Given the description of an element on the screen output the (x, y) to click on. 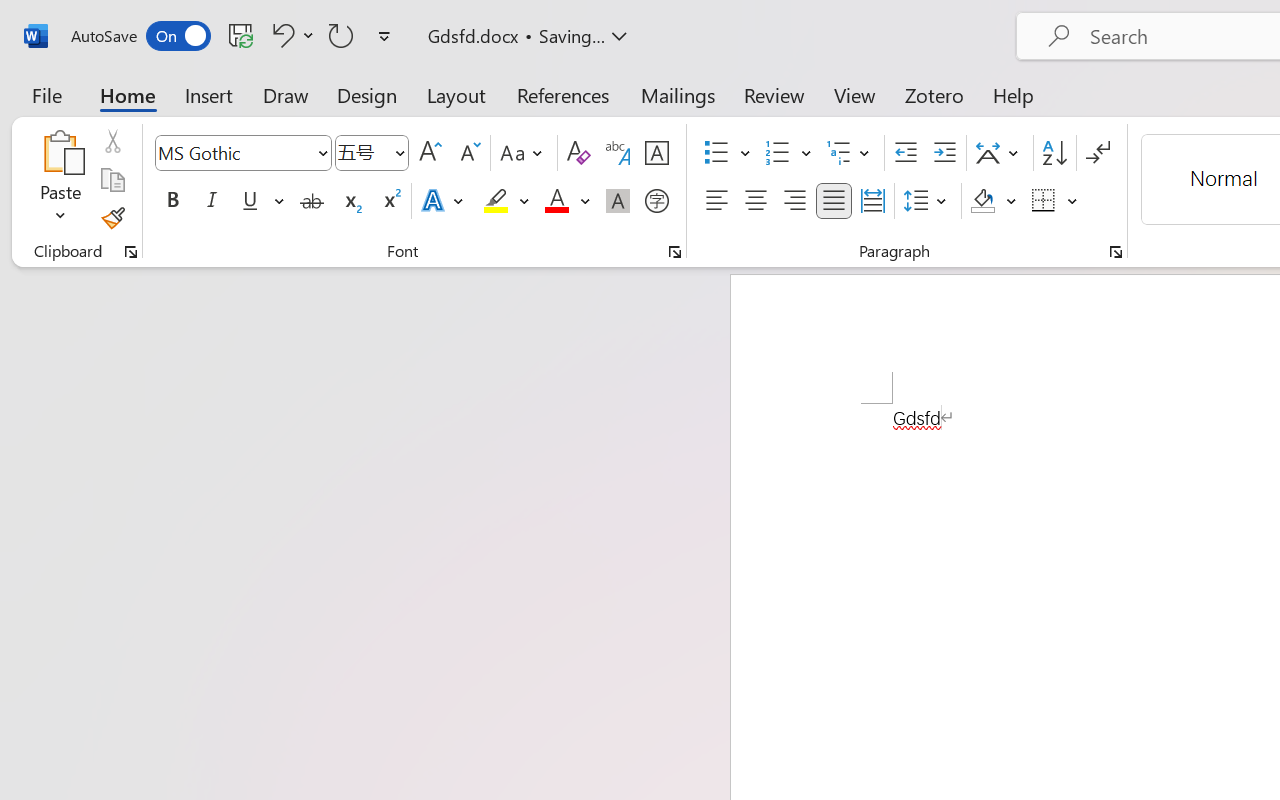
Asian Layout (1000, 153)
